Given the description of an element on the screen output the (x, y) to click on. 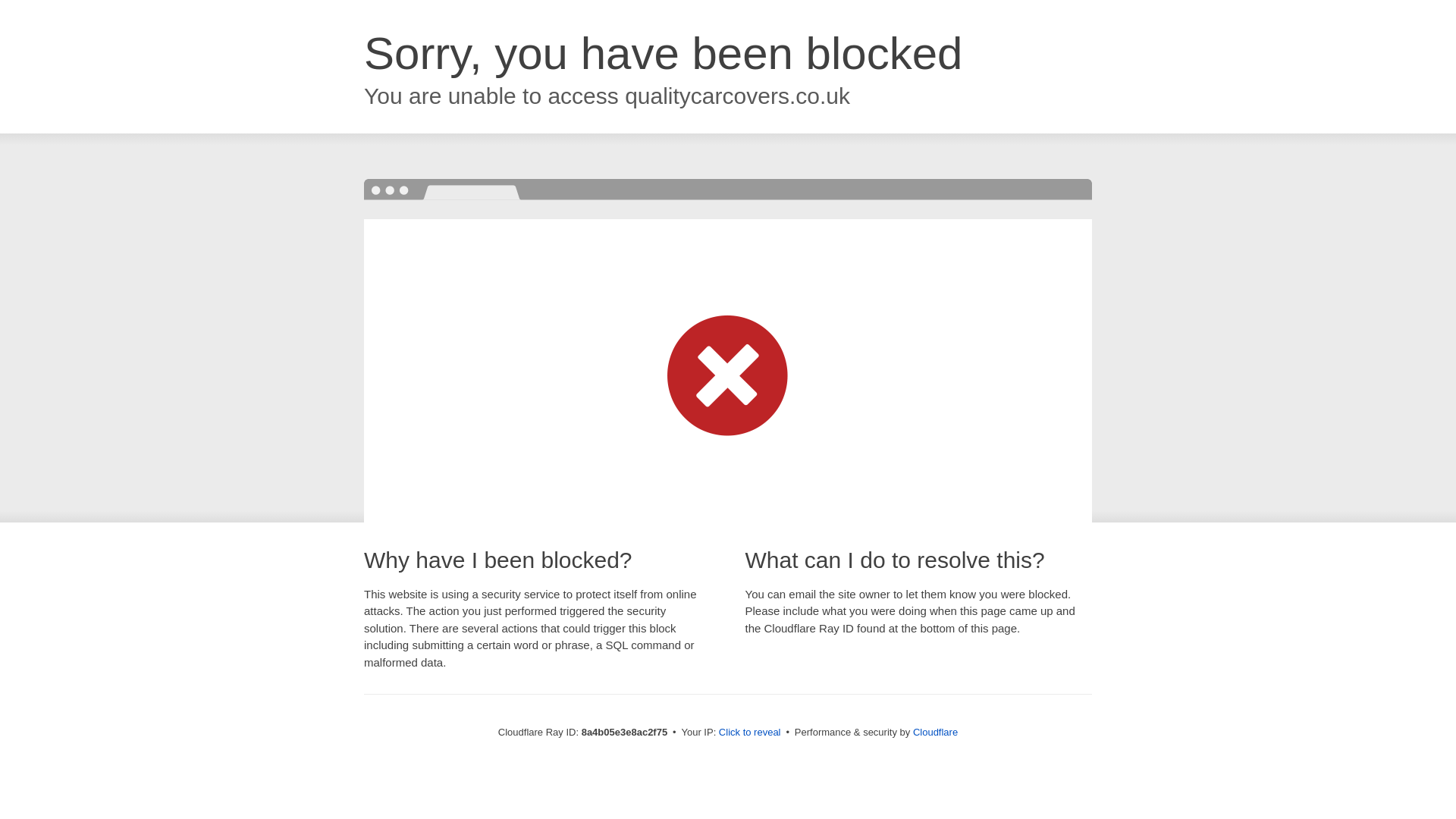
Click to reveal (749, 732)
Cloudflare (935, 731)
